Given the description of an element on the screen output the (x, y) to click on. 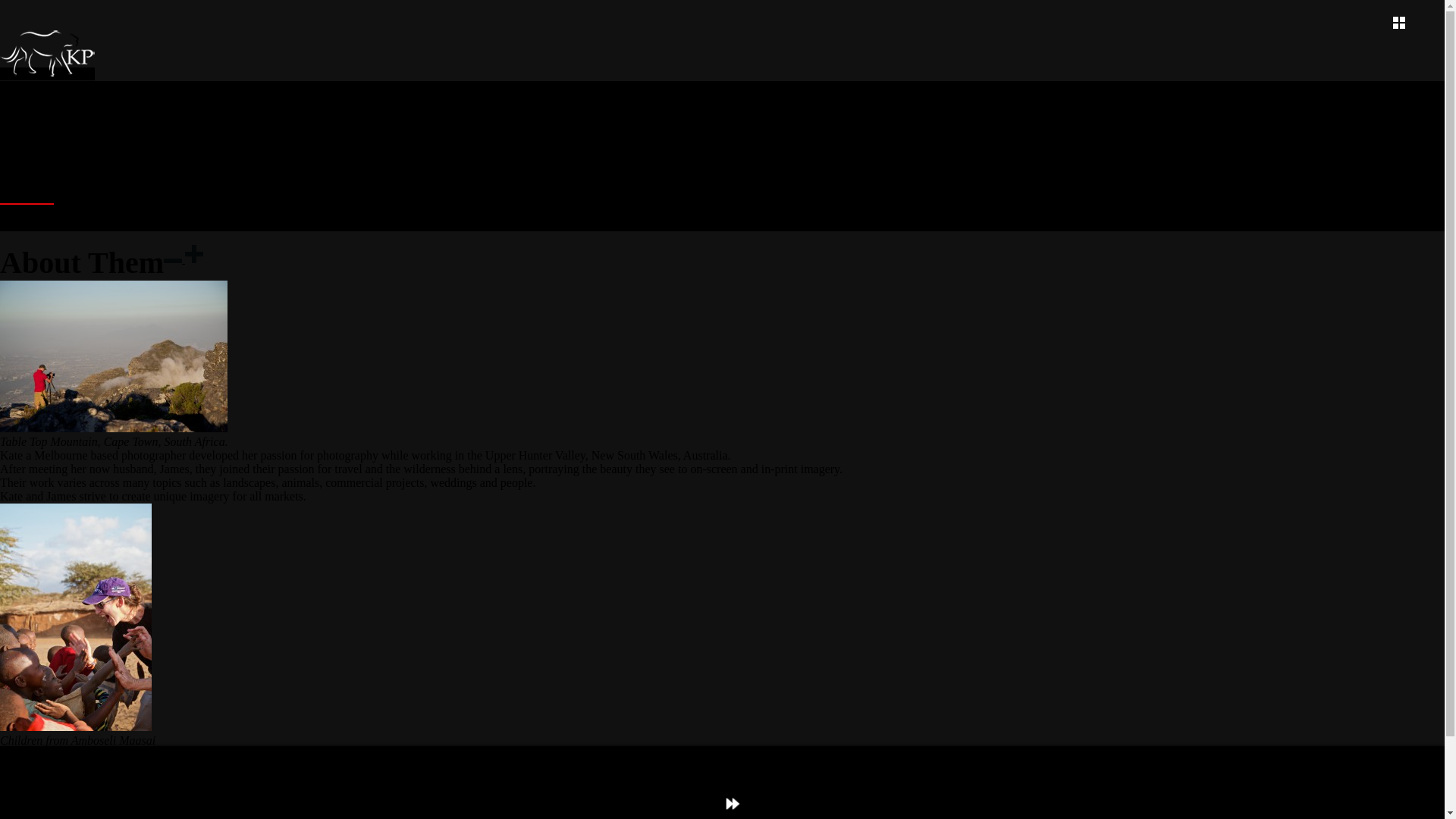
Wild Africa Element type: text (25, 183)
People & Culture Element type: text (37, 169)
Testimonials Element type: text (26, 210)
Around the world Element type: text (37, 115)
http://500px.com/jamezphillips Element type: text (227, 781)
Contact Us Element type: text (23, 224)
About Them Element type: text (26, 197)
Landscapes Element type: text (24, 156)
Gallery Element type: text (15, 101)
Home Element type: text (12, 88)
Wedding Element type: text (18, 142)
Creatures great and small Element type: text (54, 128)
